Given the description of an element on the screen output the (x, y) to click on. 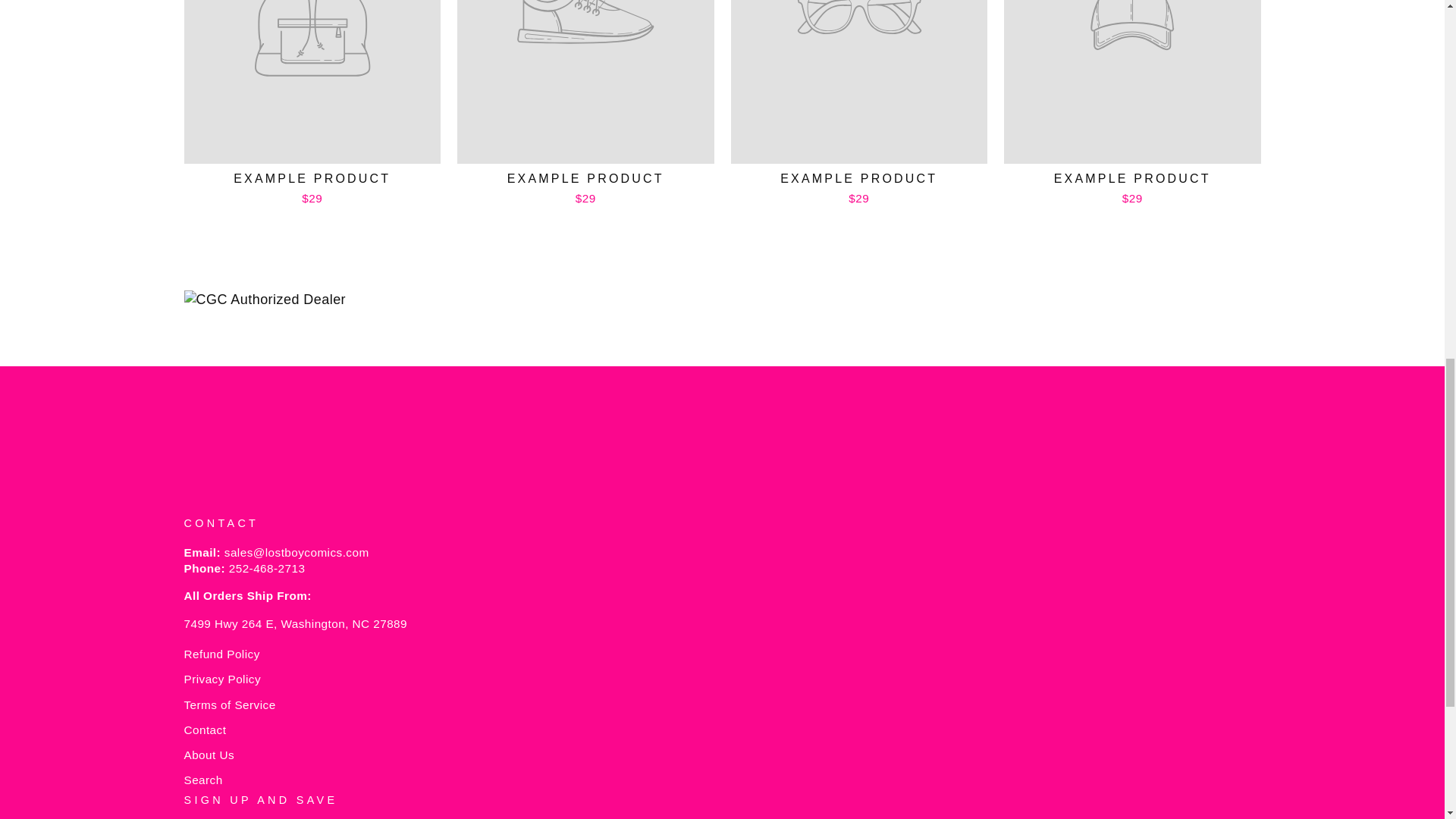
CGC Authorized Dealer (721, 299)
